Given the description of an element on the screen output the (x, y) to click on. 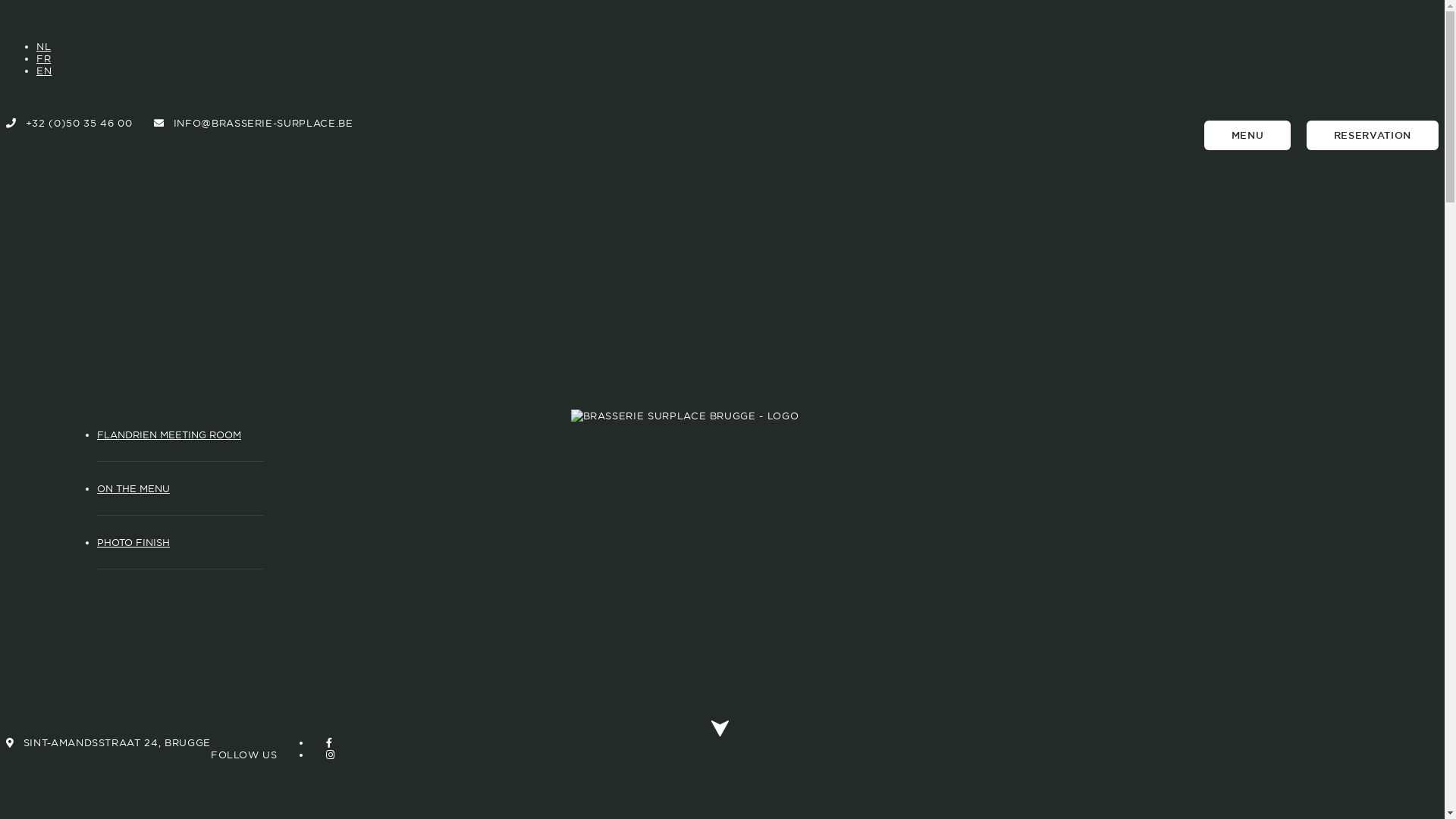
NL Element type: text (43, 46)
PHOTO FINISH Element type: text (180, 541)
MENU Element type: text (1247, 135)
+32 (0)50 35 46 00 Element type: text (68, 122)
Brasserie SurPlace op Facebook Element type: hover (321, 742)
INFO@BRASSERIE-SURPLACE.BE Element type: text (253, 122)
FLANDRIEN MEETING ROOM Element type: text (180, 434)
Brasserie SurPlace op Instagram Element type: hover (322, 754)
EN Element type: text (43, 70)
ON THE MENU Element type: text (180, 487)
FR Element type: text (43, 58)
RESERVATION Element type: text (1372, 135)
